Given the description of an element on the screen output the (x, y) to click on. 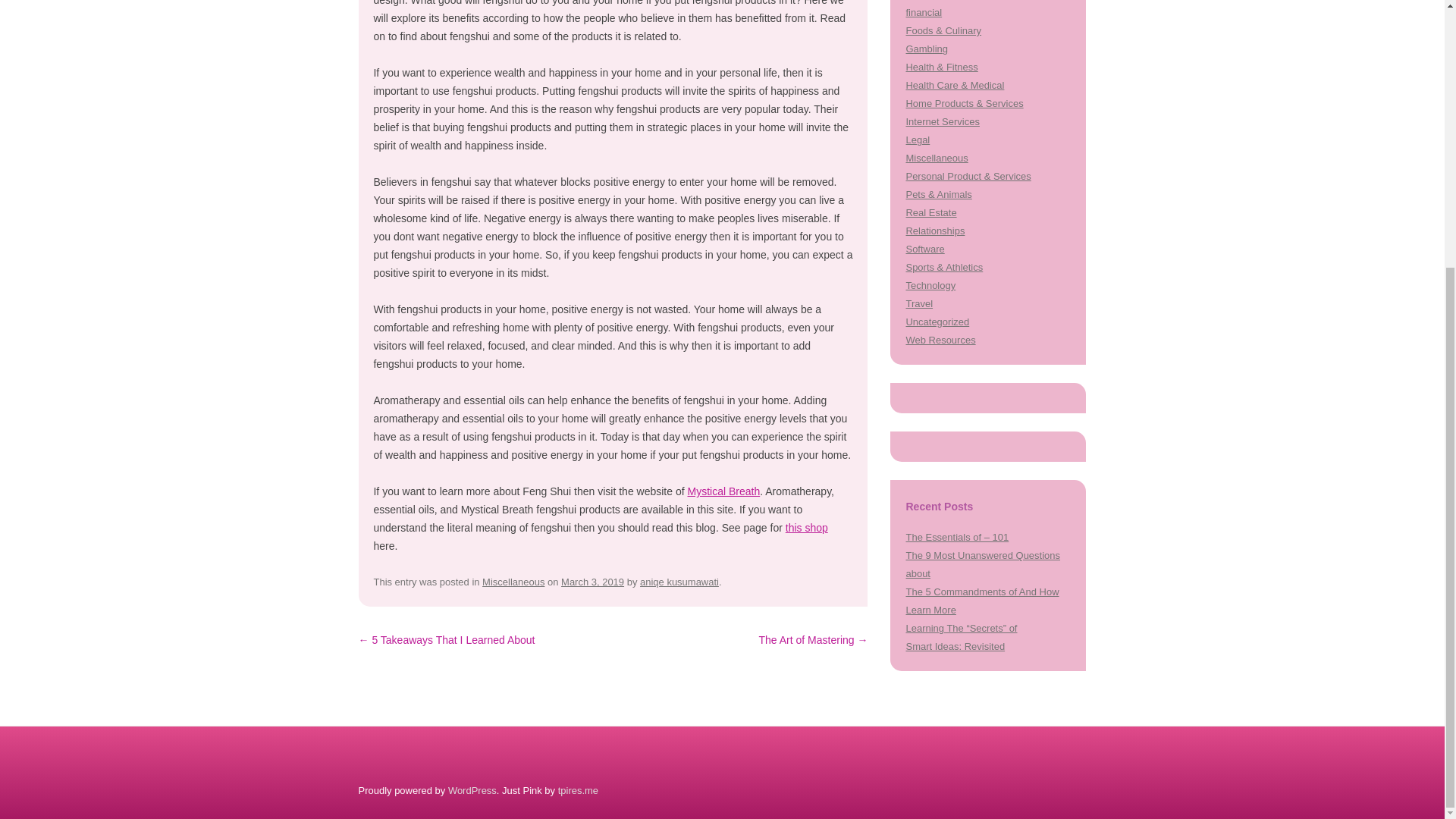
Mystical Breath (723, 491)
this shop (807, 527)
March 3, 2019 (592, 582)
Uncategorized (937, 321)
Travel (919, 303)
Relationships (934, 230)
The 5 Commandments of And How Learn More (981, 600)
aniqe kusumawati (679, 582)
5:04 pm (592, 582)
Real Estate (930, 212)
